Given the description of an element on the screen output the (x, y) to click on. 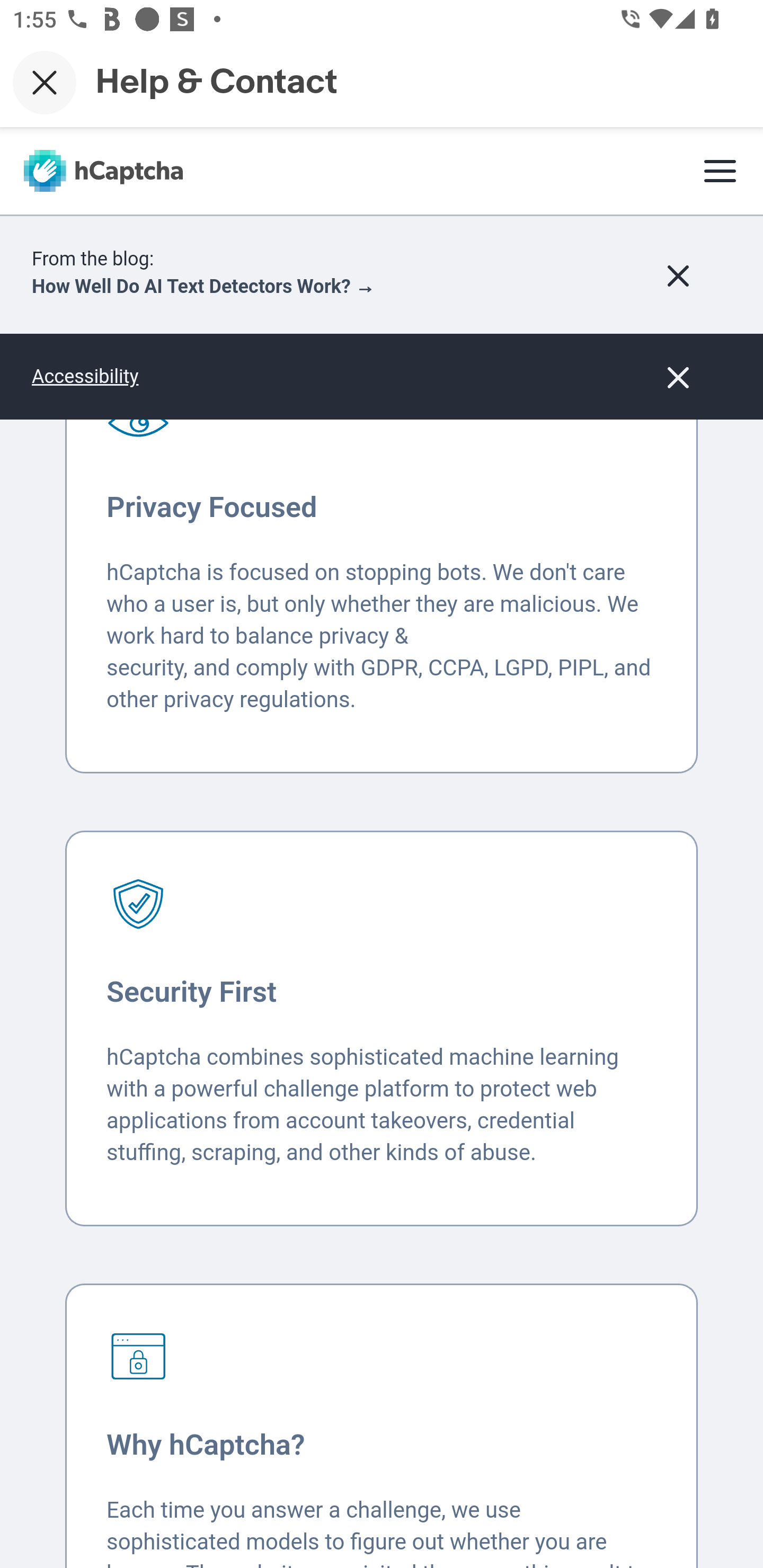
Close (44, 82)
hCaptcha home page hCaptcha logo (horizontal) (103, 172)
How Well Do AI Text Detectors Work? → (203, 288)
